Given the description of an element on the screen output the (x, y) to click on. 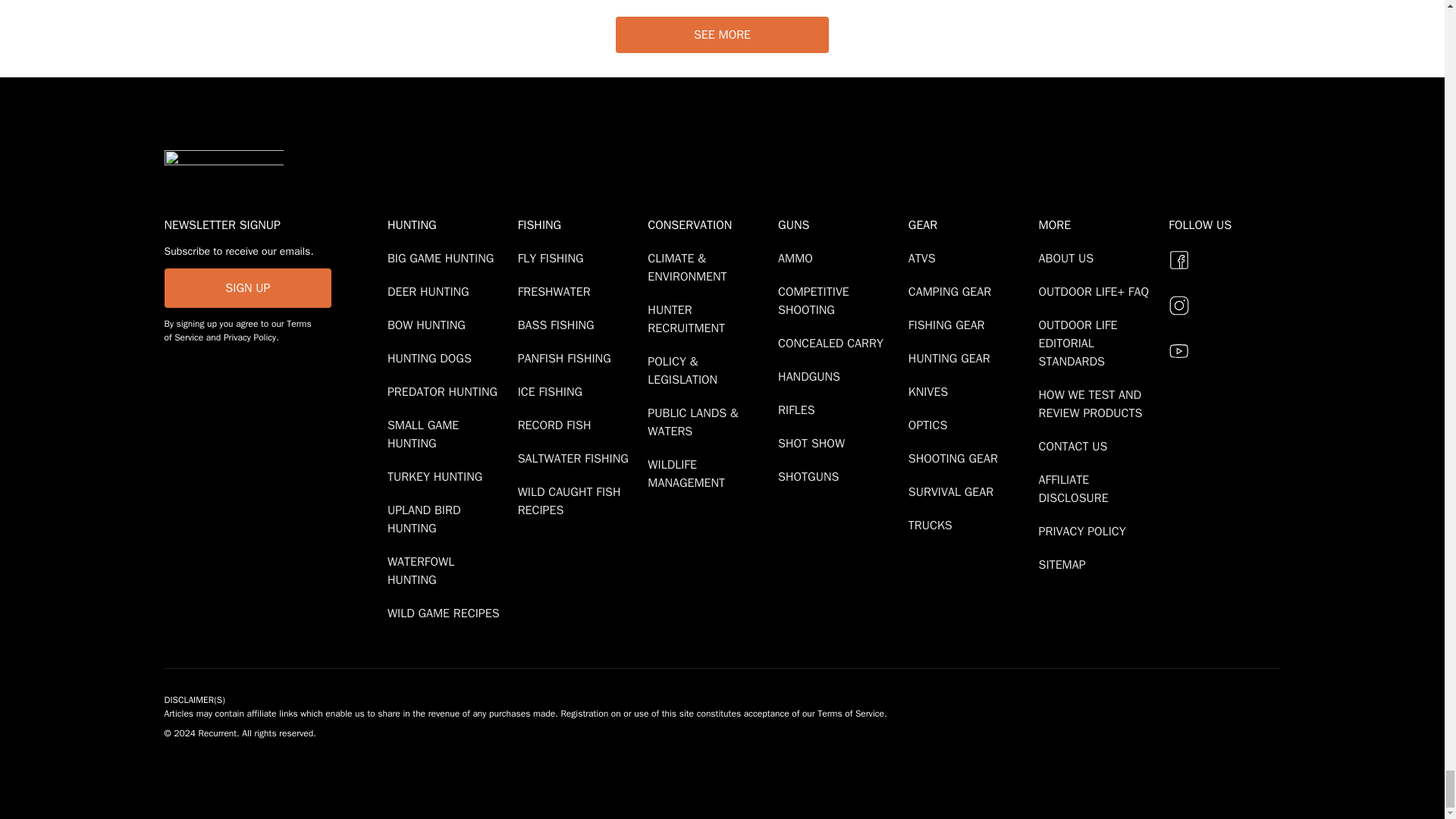
Fly Fishing (553, 257)
Deer Hunting (431, 290)
Fishing (580, 224)
Hunting (449, 224)
Conservation (709, 224)
Big Game Hunting (443, 257)
